Given the description of an element on the screen output the (x, y) to click on. 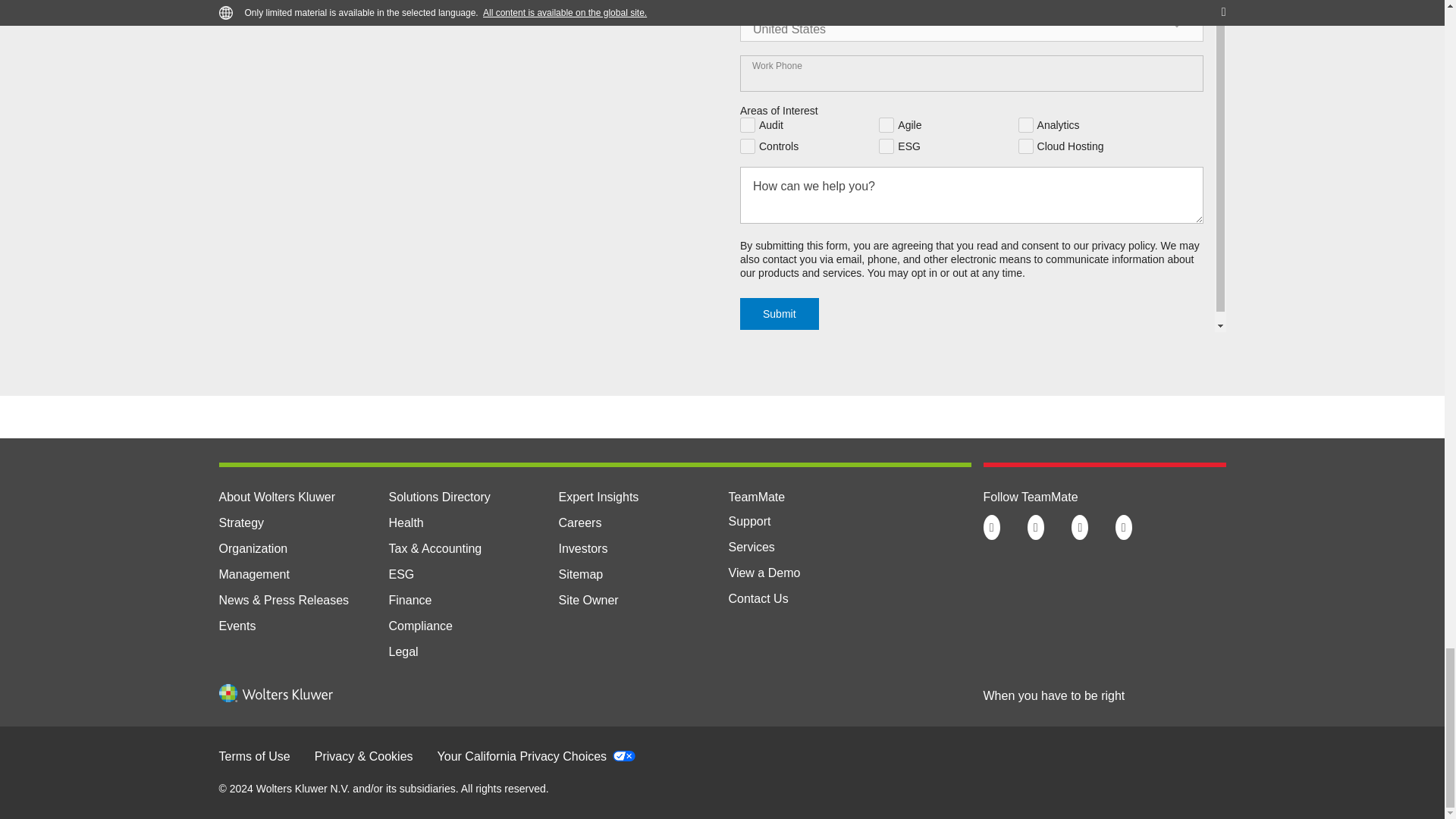
WK Logo (274, 692)
ESG (400, 574)
Wolters Kluwer Logo (274, 698)
Site Owner (587, 599)
Newsroom (283, 599)
